Given the description of an element on the screen output the (x, y) to click on. 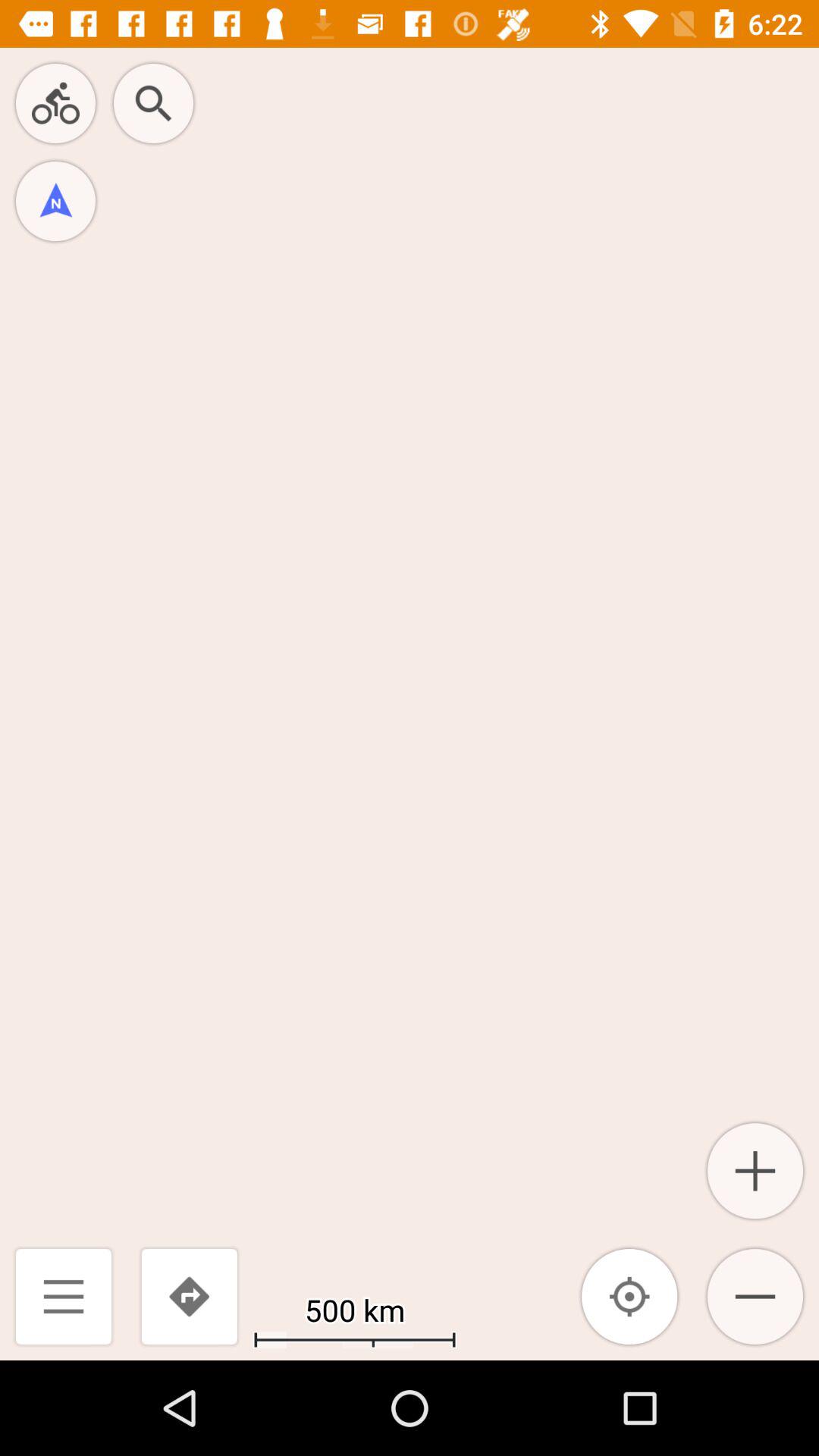
turn on item to the right of 500 km item (629, 1296)
